Given the description of an element on the screen output the (x, y) to click on. 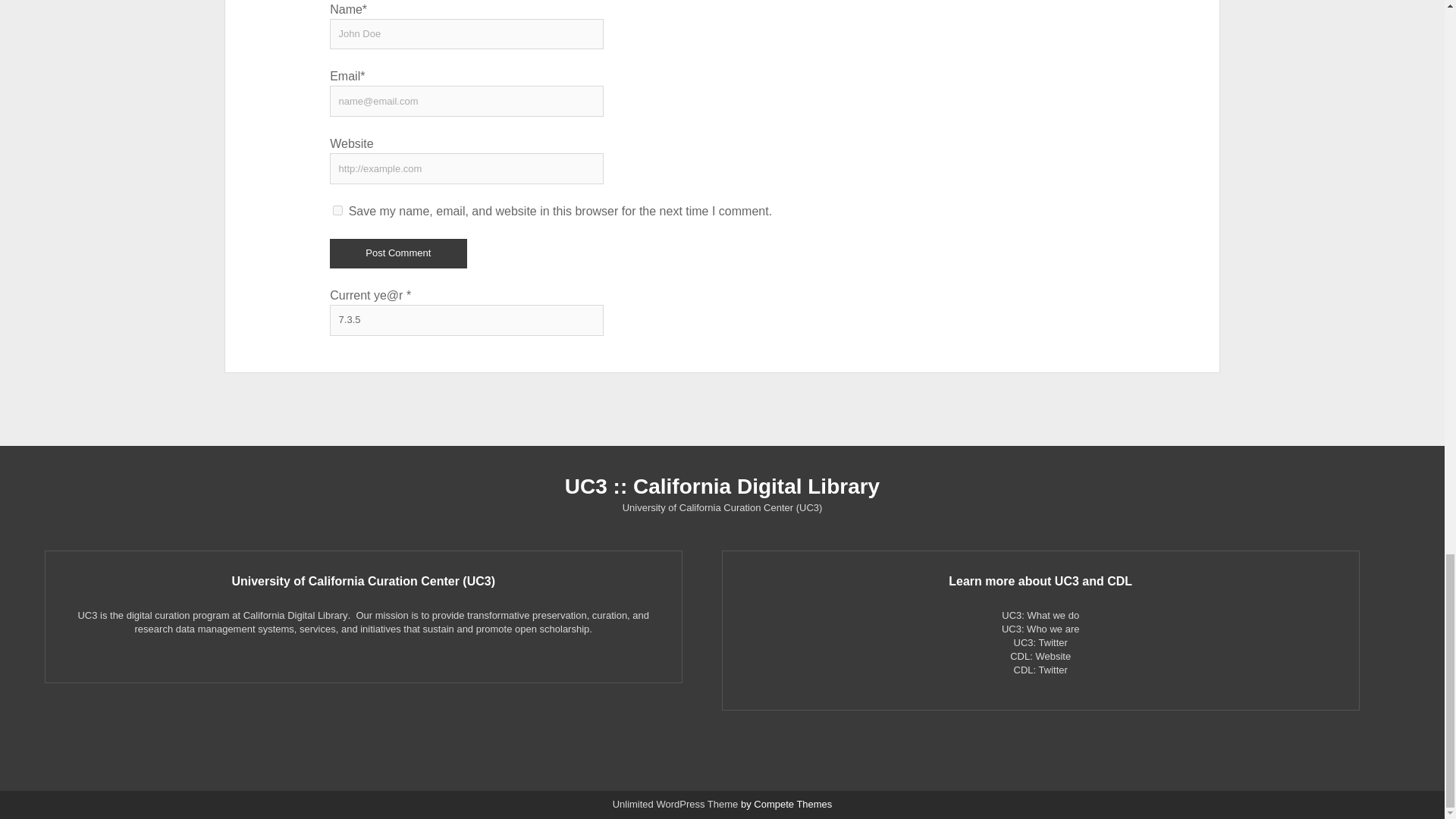
CDL: Website (1040, 655)
UC3 :: California Digital Library (721, 486)
California Digital Library (295, 614)
UC3: Who we are (1040, 628)
yes (337, 210)
UC3: Twitter (1040, 642)
Unlimited WordPress Theme (675, 803)
CDL: Twitter (1040, 669)
7.3.5 (467, 319)
Post Comment (397, 253)
